Given the description of an element on the screen output the (x, y) to click on. 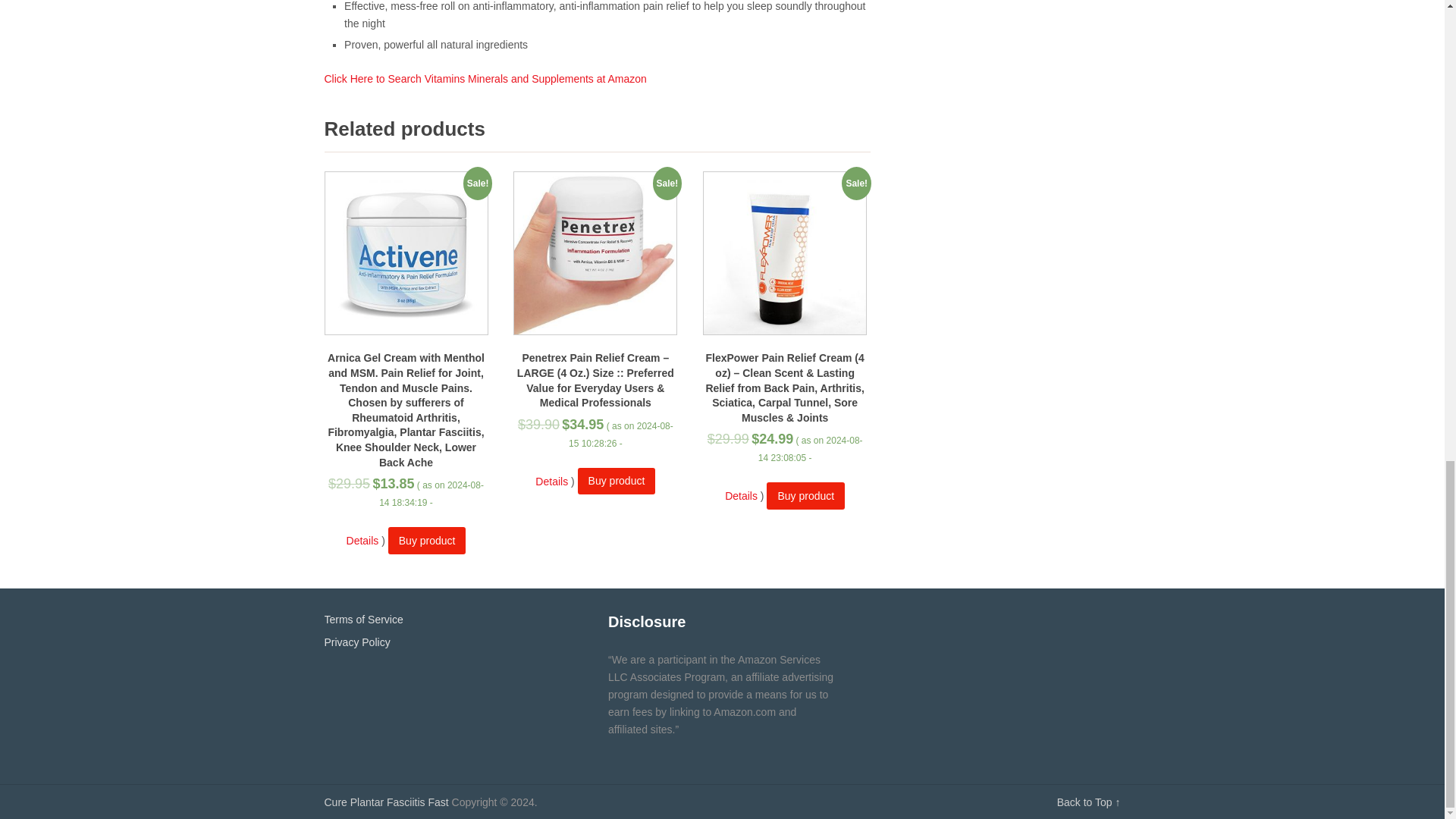
Buy product (617, 480)
Buy product (426, 540)
Details (362, 540)
Details (551, 480)
Details (741, 495)
Cure Plantar Fasciitis Quickly From Home! (386, 802)
Buy product (805, 495)
